Given the description of an element on the screen output the (x, y) to click on. 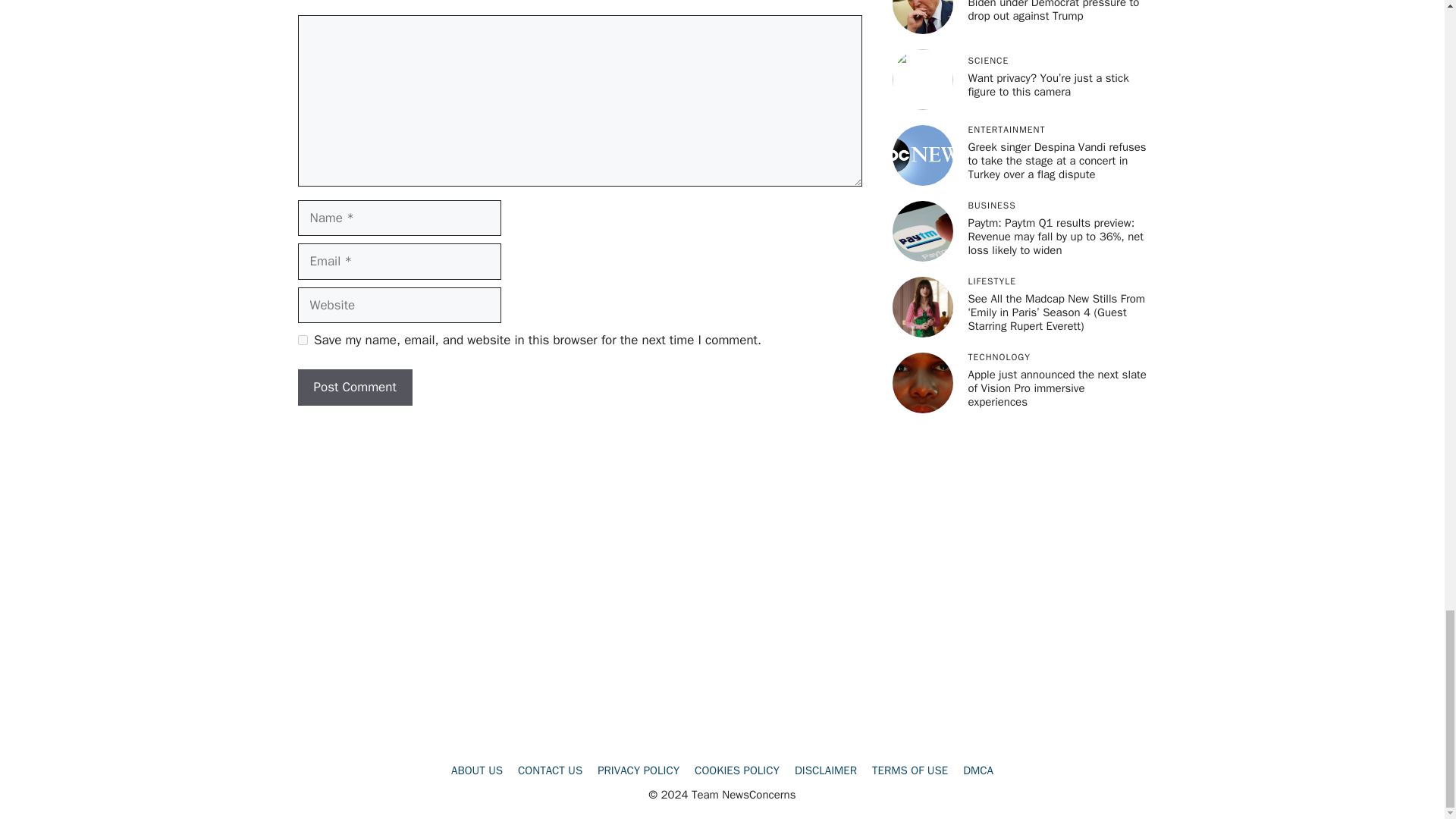
Post Comment (354, 387)
yes (302, 339)
Advertisement (721, 485)
Post Comment (354, 387)
